Given the description of an element on the screen output the (x, y) to click on. 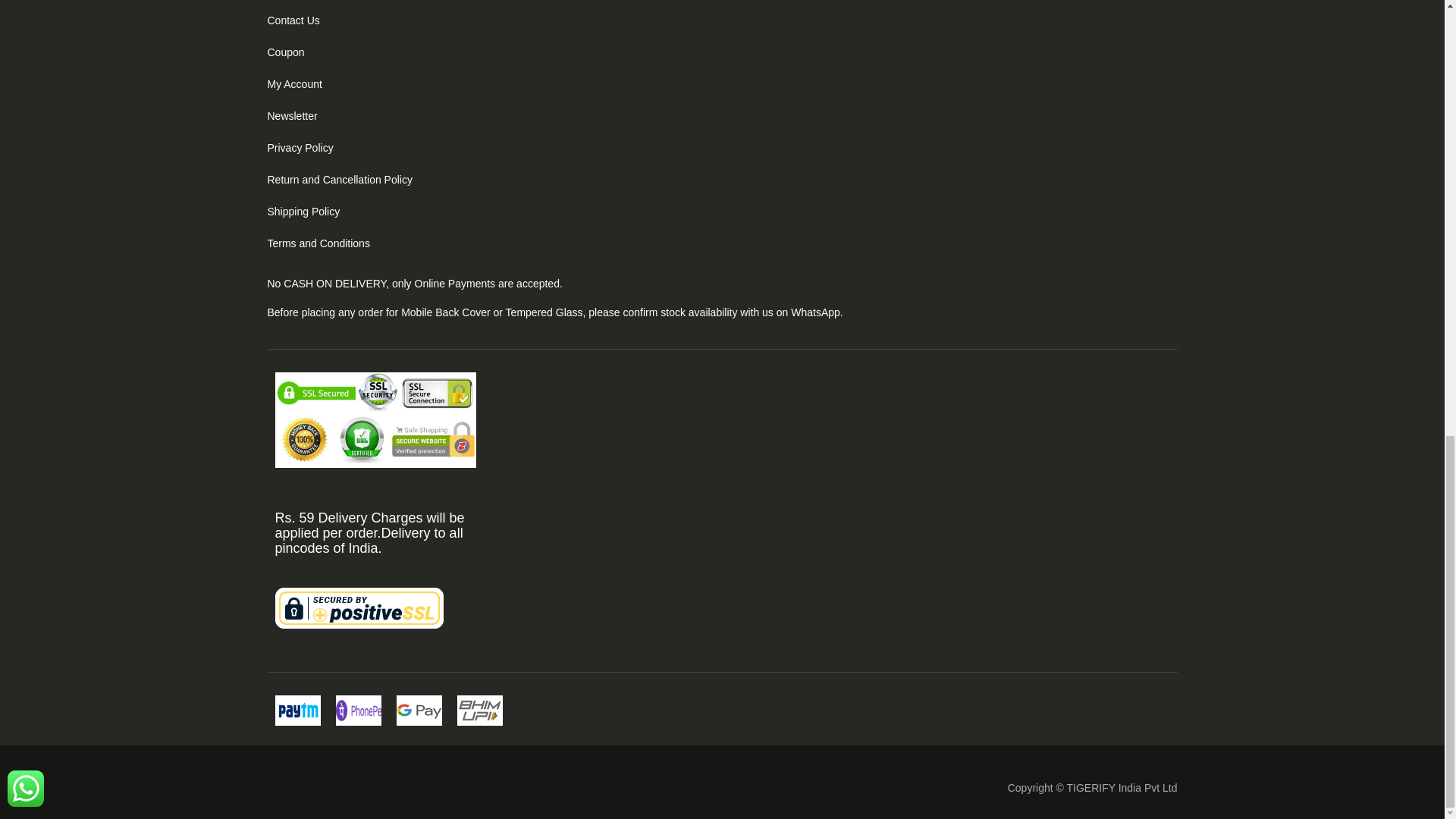
My Account (293, 83)
Contact Us (292, 20)
Coupon (285, 51)
Newsletter (291, 115)
